Given the description of an element on the screen output the (x, y) to click on. 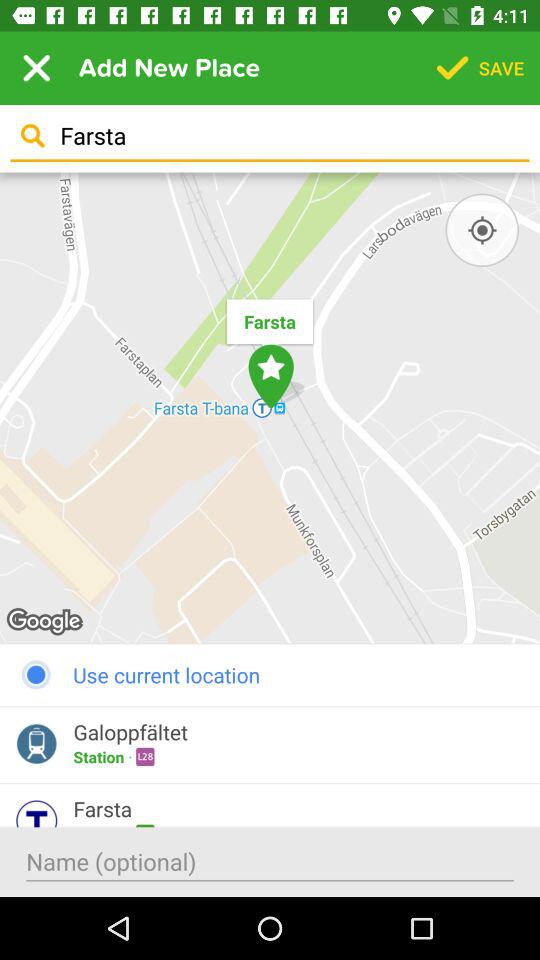
compass toggle north fixed (482, 230)
